Given the description of an element on the screen output the (x, y) to click on. 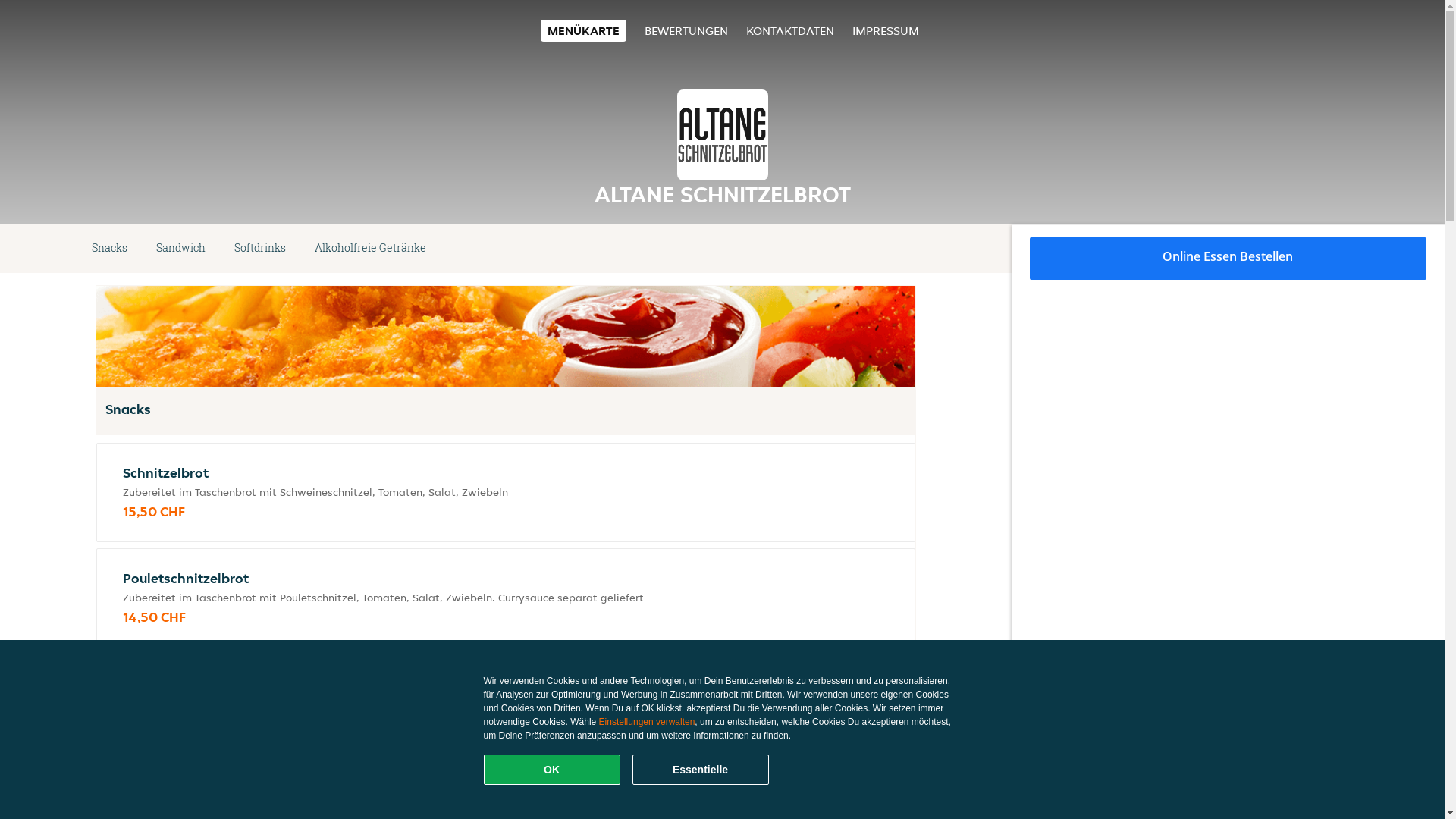
Sandwich Element type: text (180, 248)
Einstellungen verwalten Element type: text (647, 721)
IMPRESSUM Element type: text (885, 30)
OK Element type: text (551, 769)
BEWERTUNGEN Element type: text (686, 30)
Softdrinks Element type: text (259, 248)
Snacks Element type: text (109, 248)
Essentielle Element type: text (700, 769)
Online Essen Bestellen Element type: text (1228, 258)
KONTAKTDATEN Element type: text (790, 30)
